Given the description of an element on the screen output the (x, y) to click on. 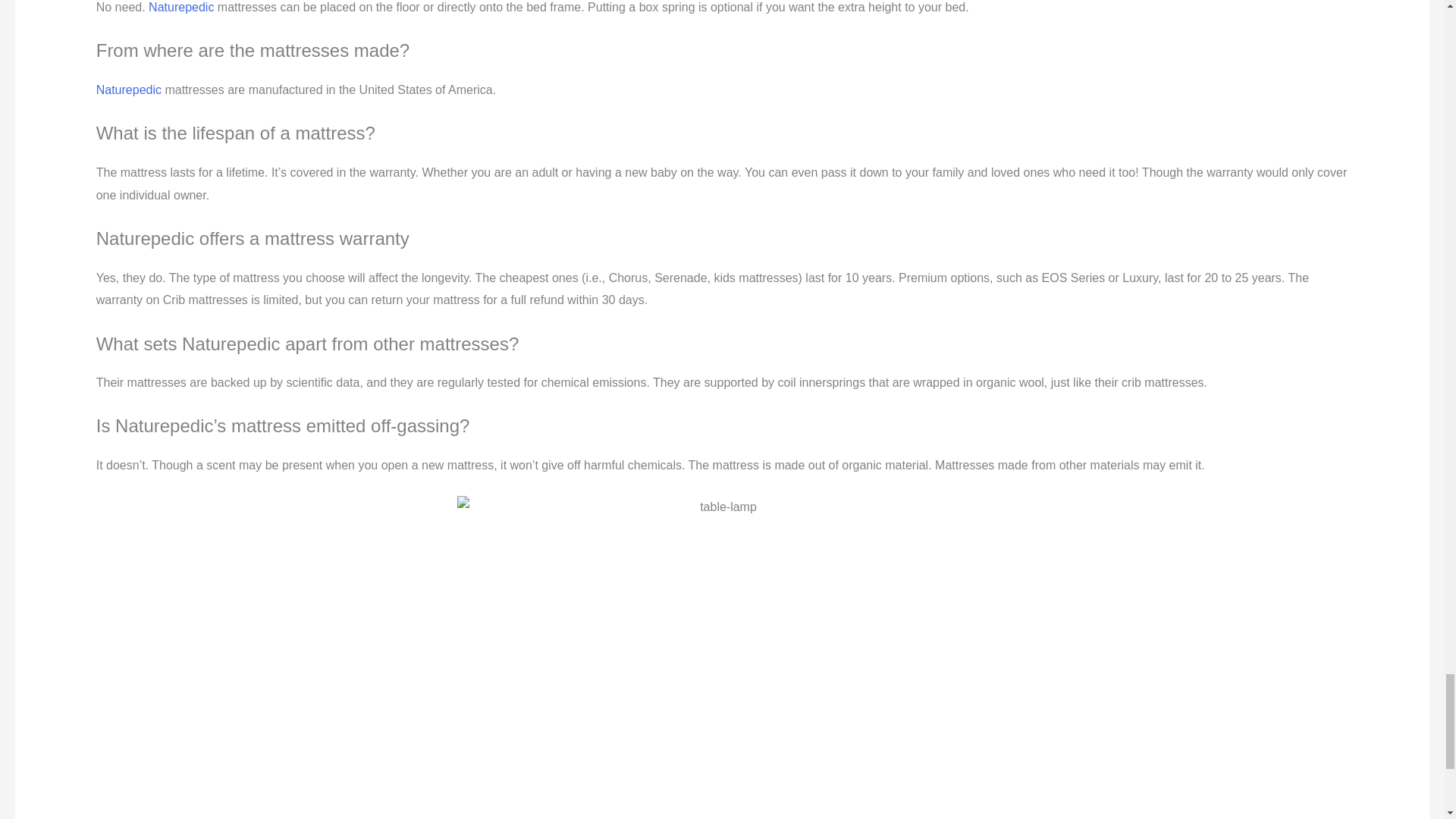
Naturepedic (181, 6)
Naturepedic (128, 89)
